Given the description of an element on the screen output the (x, y) to click on. 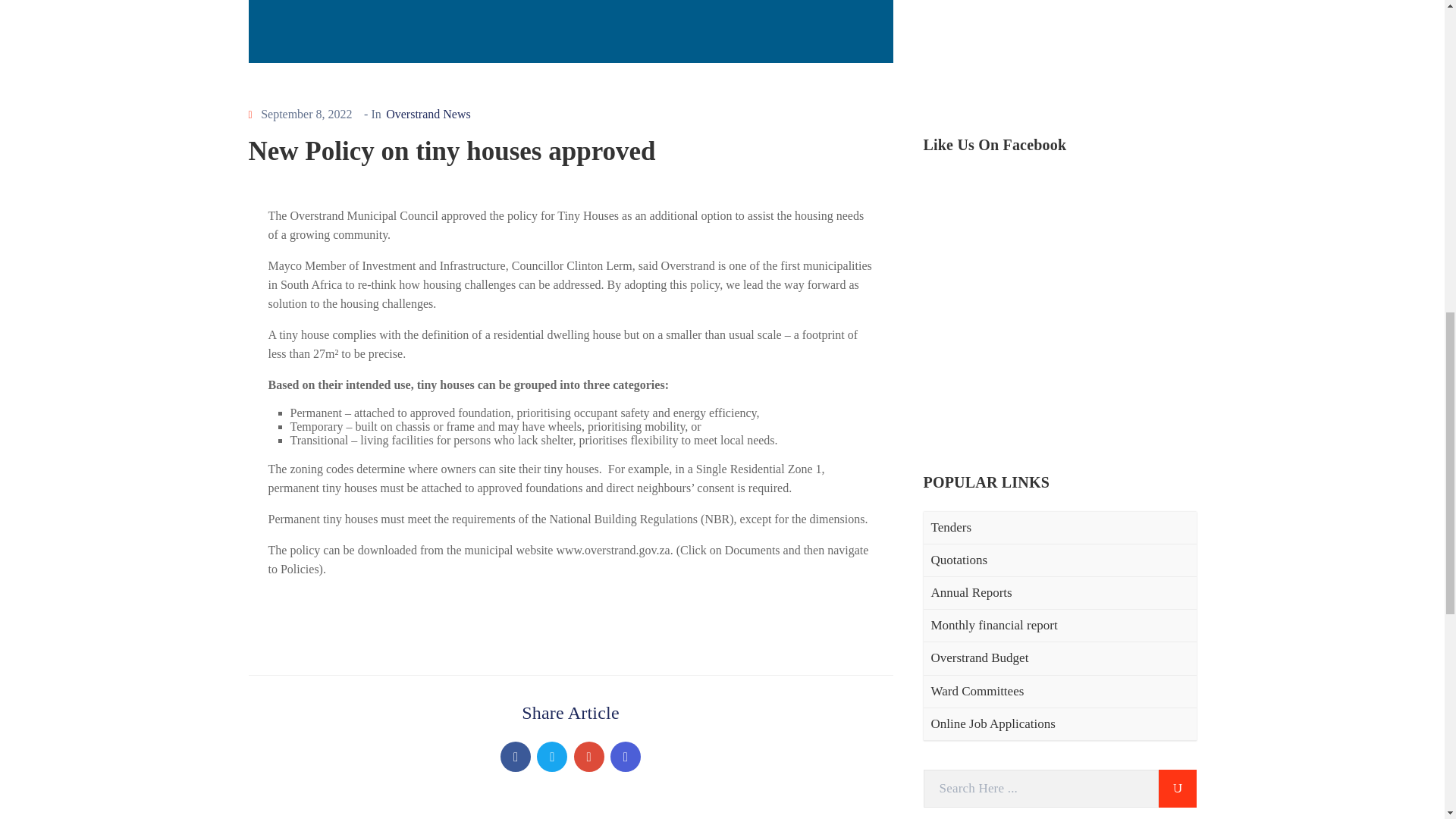
Pinterest (588, 757)
Submit (1177, 304)
Twitter (552, 757)
Facebook (515, 757)
Linkedin (625, 757)
